Given the description of an element on the screen output the (x, y) to click on. 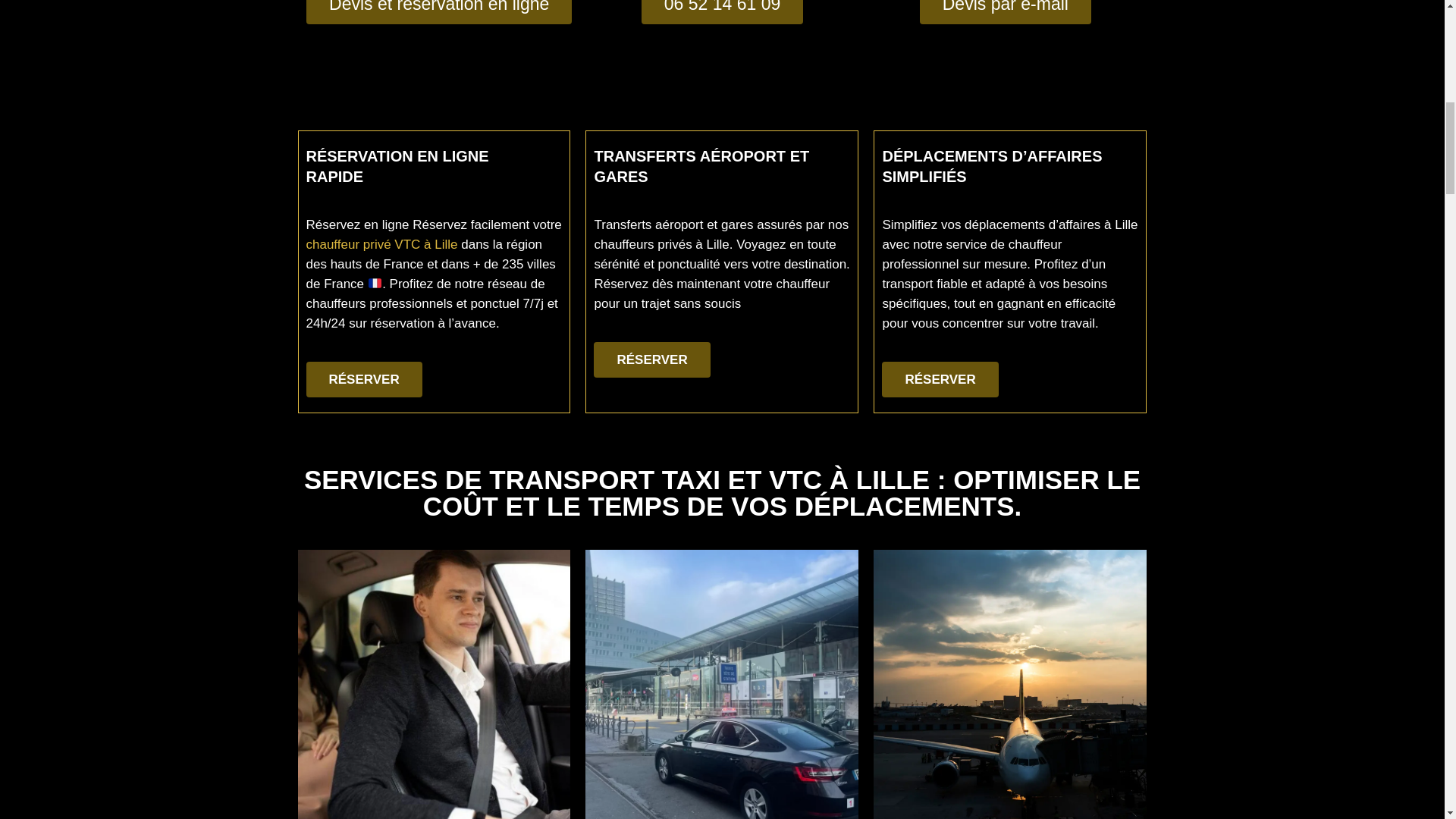
06 52 14 61 09 (722, 12)
Devis par e-mail (1005, 12)
